Given the description of an element on the screen output the (x, y) to click on. 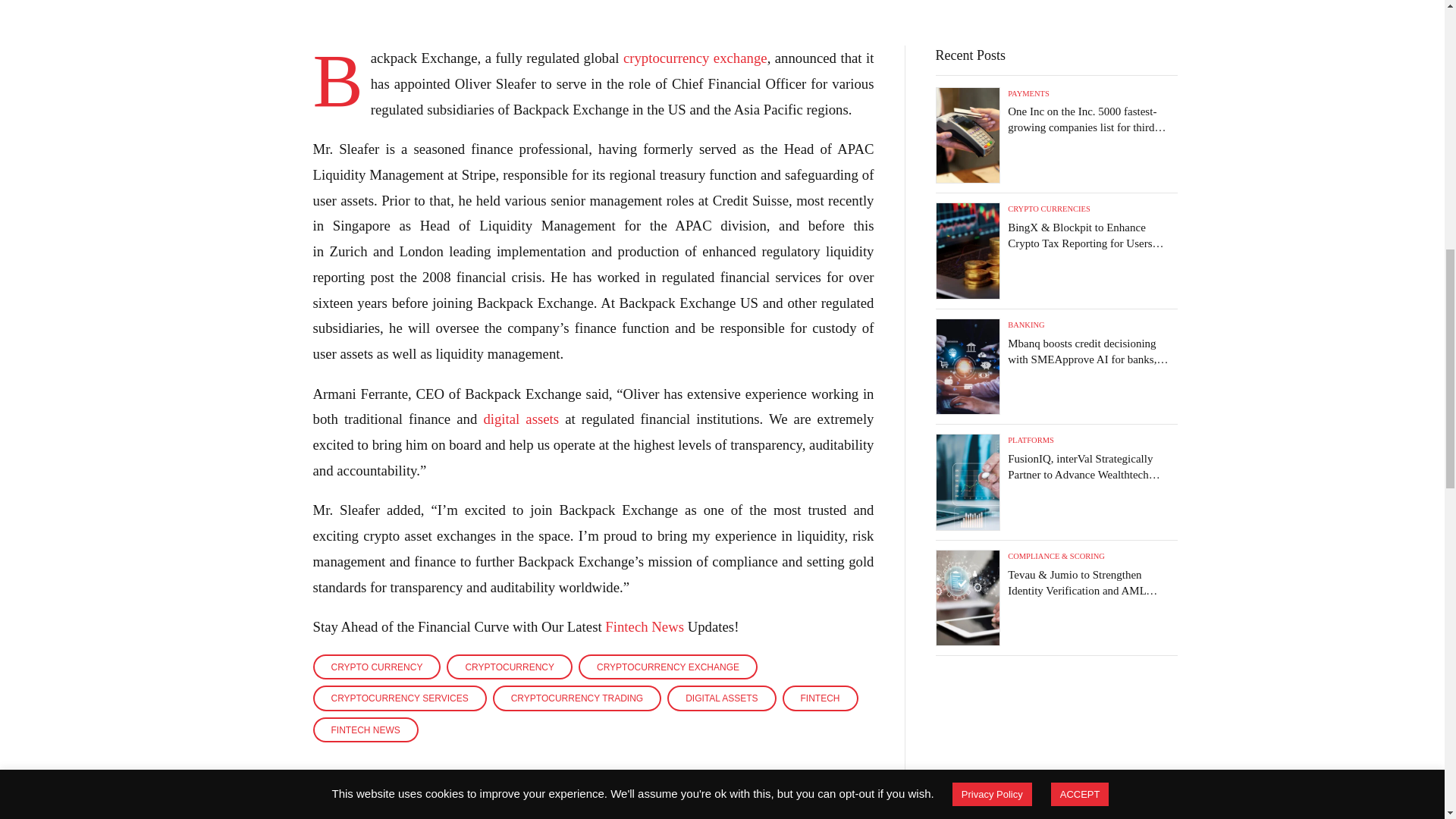
CRYPTOCURRENCY EXCHANGE (667, 666)
CRYPTO CURRENCY (377, 666)
cryptocurrency exchange (695, 57)
CRYPTOCURRENCY (509, 666)
Fintech News (644, 626)
digital assets (521, 418)
CRYPTOCURRENCY SERVICES (399, 698)
